Given the description of an element on the screen output the (x, y) to click on. 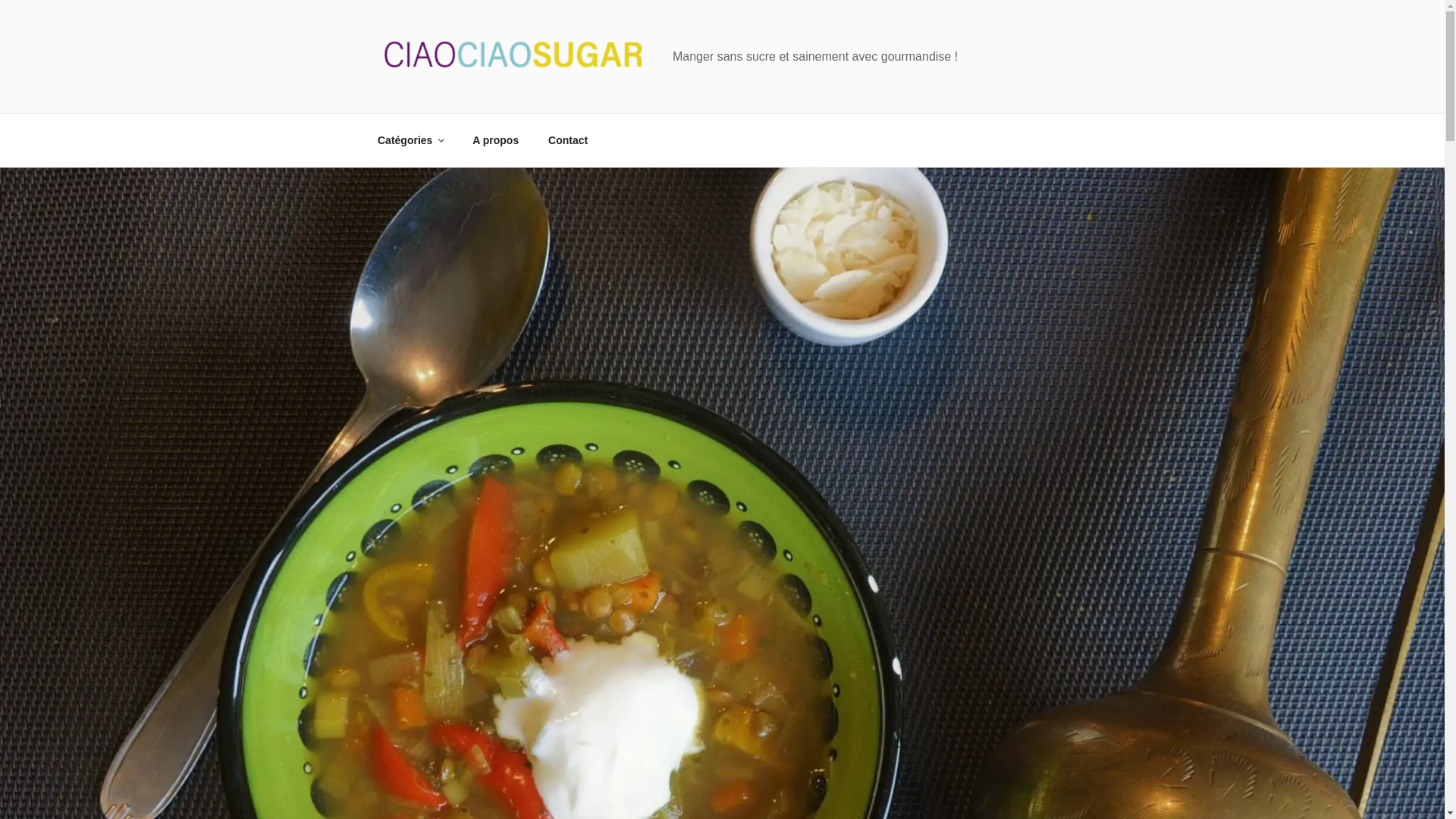
Contact Element type: text (568, 139)
Aller au contenu principal Element type: text (0, 0)
A propos Element type: text (495, 139)
